Given the description of an element on the screen output the (x, y) to click on. 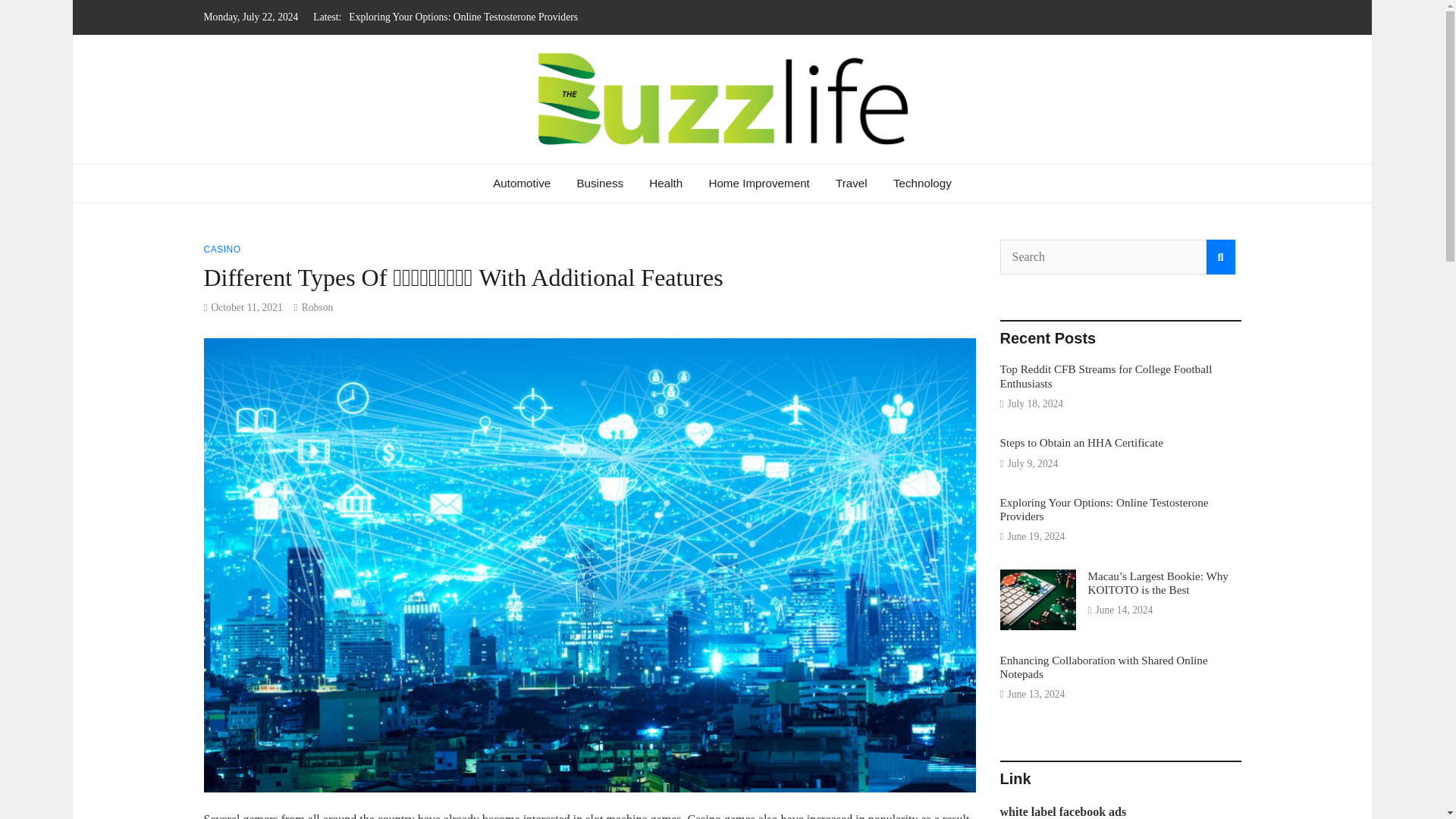
Technology (922, 183)
Automotive (521, 183)
October 11, 2021 (246, 307)
Top Reddit CFB Streams for College Football Enthusiasts (1104, 375)
Steps to Obtain an HHA Certificate (1080, 441)
Exploring Your Options: Online Testosterone Providers (463, 16)
CASINO (221, 249)
The Buzz Life (320, 169)
Business (599, 183)
July 18, 2024 (1034, 403)
Exploring Your Options: Online Testosterone Providers (463, 16)
Home Improvement (759, 183)
Health (665, 183)
Robson (317, 307)
Travel (851, 183)
